Given the description of an element on the screen output the (x, y) to click on. 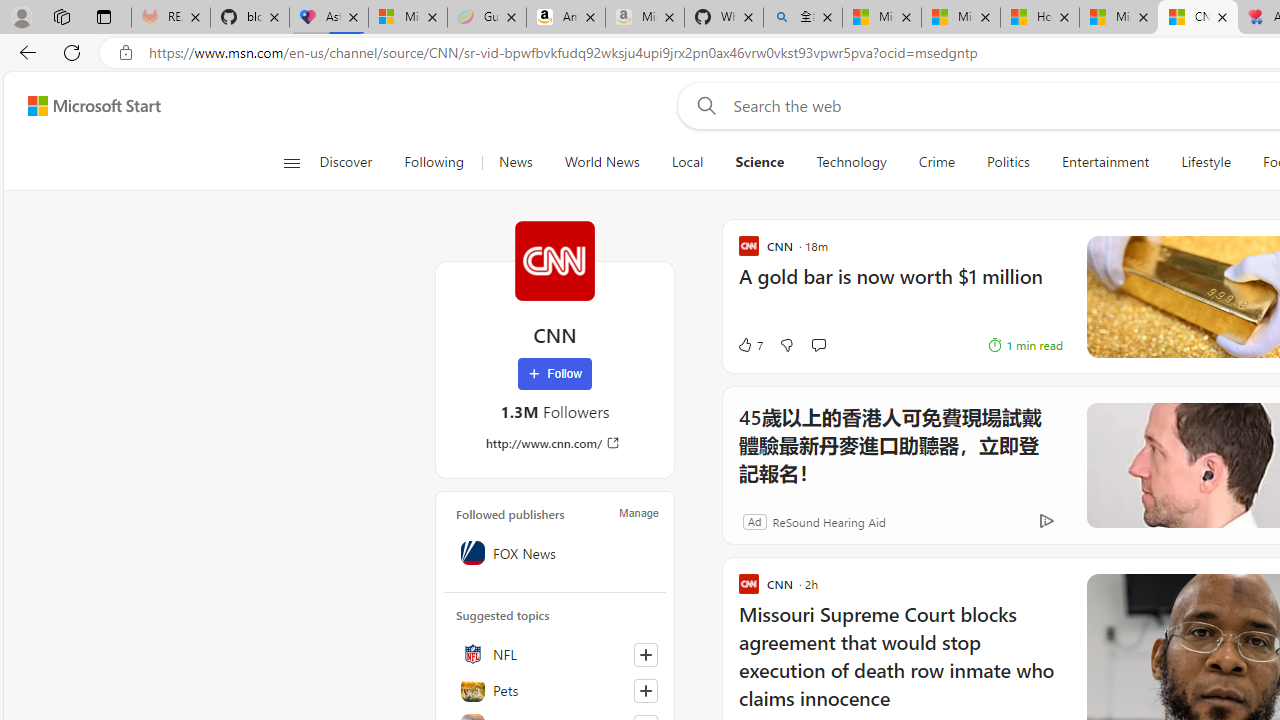
Ad Choice (1046, 521)
CNN - MSN (1197, 17)
Local (687, 162)
Lifestyle (1206, 162)
Microsoft-Report a Concern to Bing (407, 17)
Manage (639, 512)
Politics (1008, 162)
Politics (1008, 162)
